Given the description of an element on the screen output the (x, y) to click on. 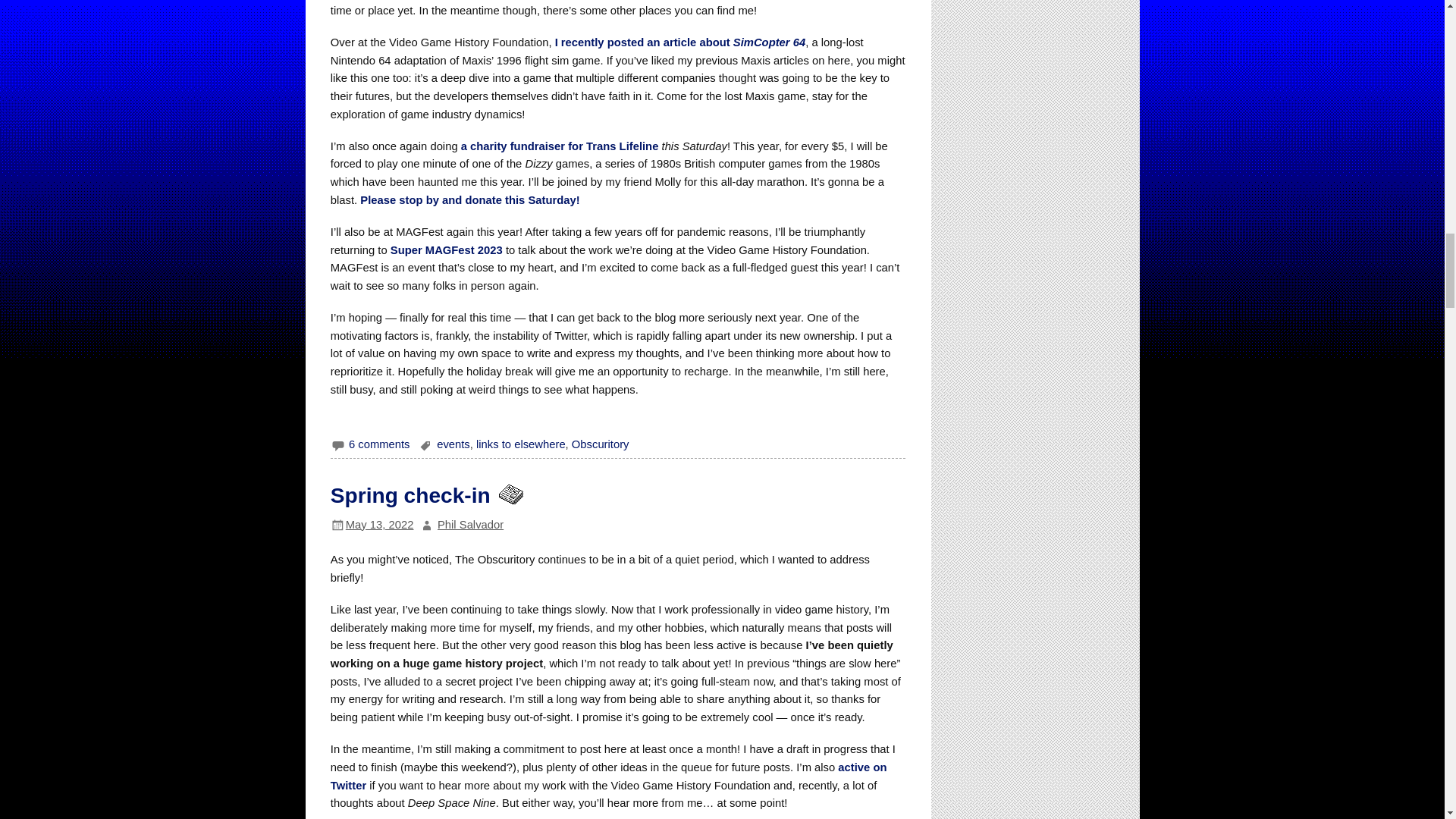
Blog (509, 494)
Blog (509, 495)
1:20 pm (379, 524)
View all posts by Phil Salvador (470, 524)
I recently posted an article about SimCopter 64 (680, 42)
a charity fundraiser for Trans Lifeline (560, 146)
